Given the description of an element on the screen output the (x, y) to click on. 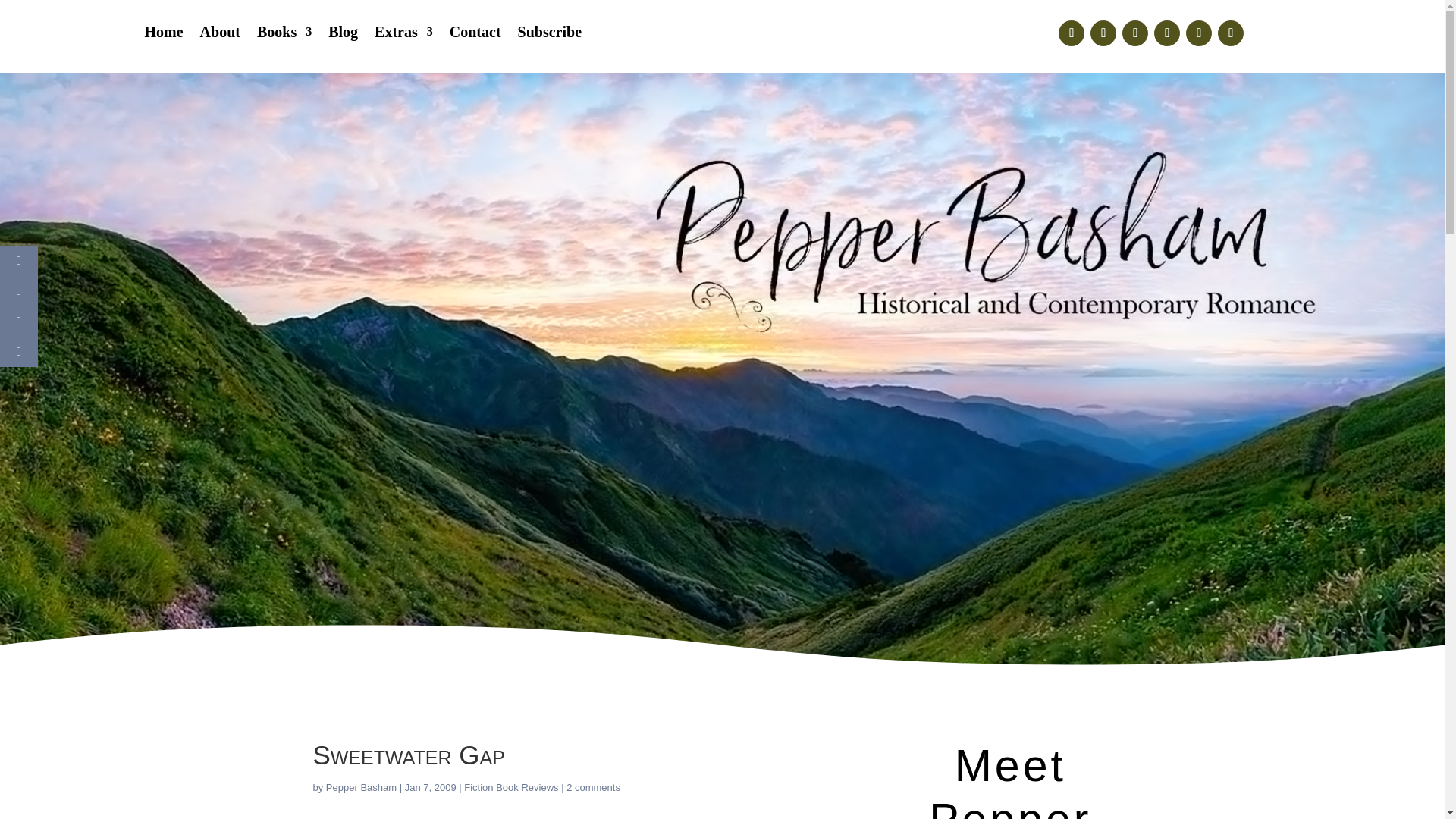
Pepper Basham (361, 787)
Posts by Pepper Basham (361, 787)
Contact (474, 34)
2 comments (593, 787)
Books (284, 34)
Follow on Goodreads (1230, 32)
Subscribe (549, 34)
Follow on X (1103, 32)
Follow on Pinterest (1166, 32)
Fiction Book Reviews (510, 787)
